Given the description of an element on the screen output the (x, y) to click on. 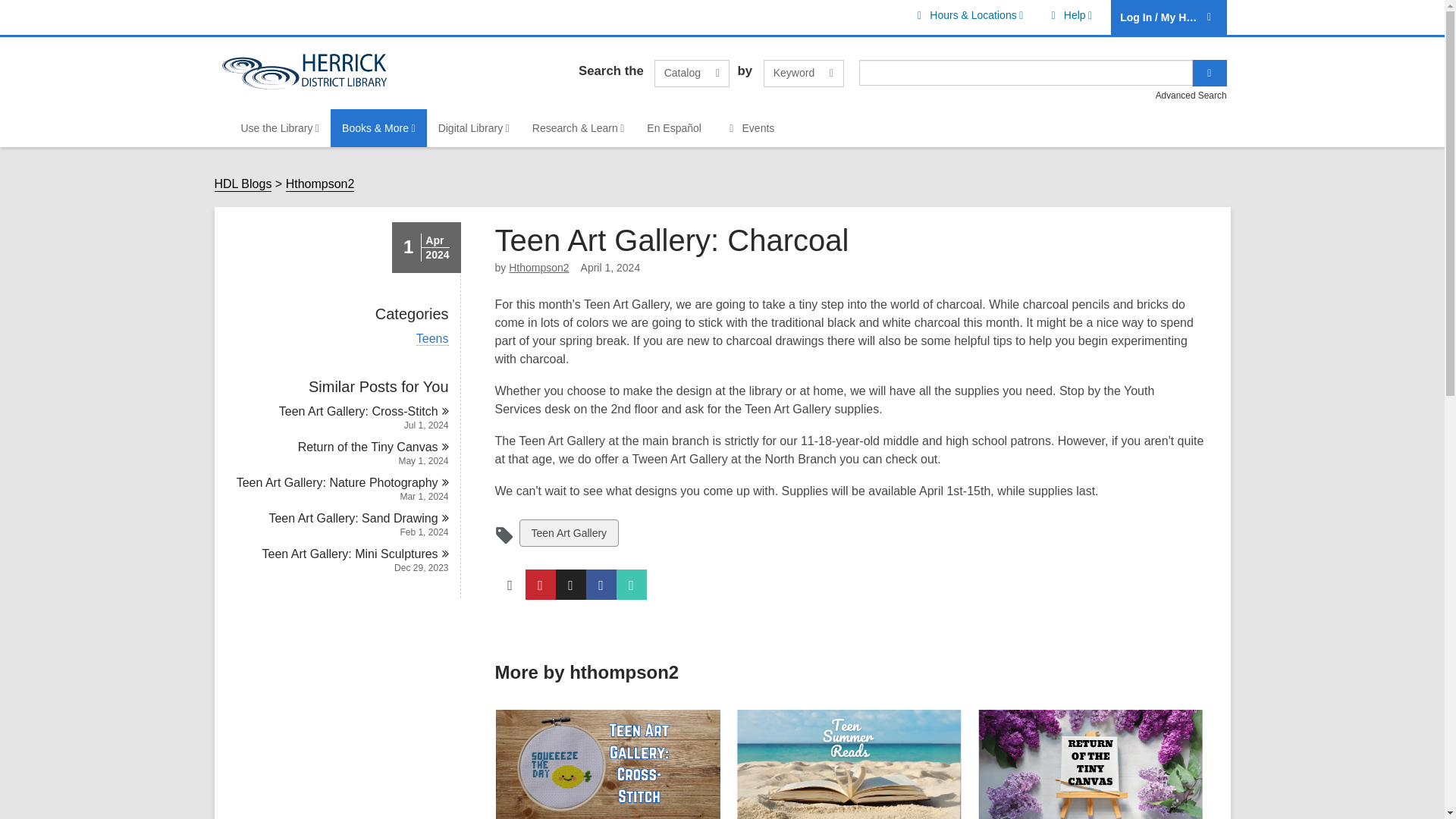
Catalog (1069, 15)
Keyword (691, 72)
